Given the description of an element on the screen output the (x, y) to click on. 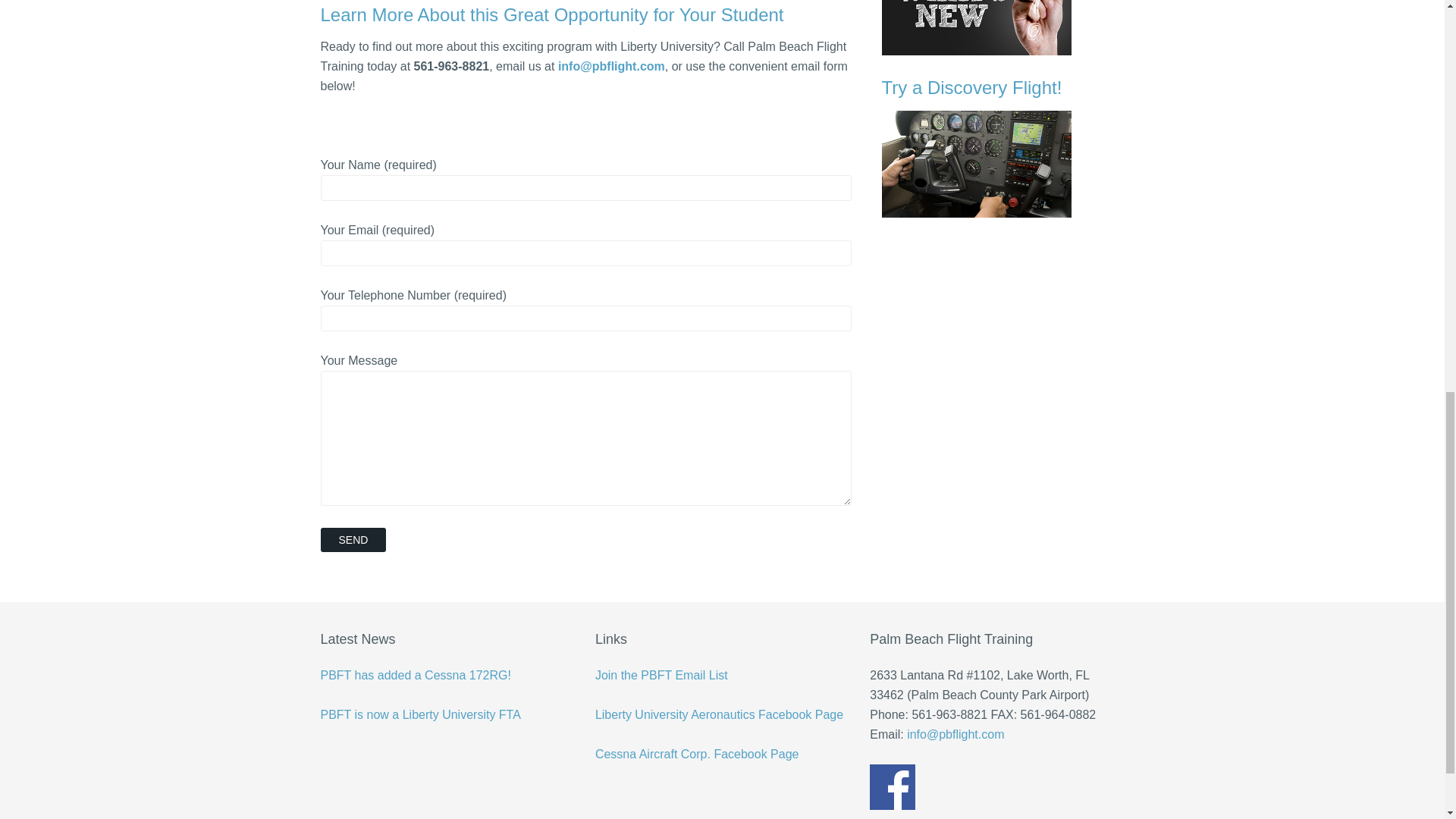
Try a Discovery Flight! (1002, 146)
Liberty University Aeronautics Facebook Page (719, 714)
Send (352, 539)
PBFT is now a Liberty University FTA (419, 714)
PBFT News (1002, 27)
Send (352, 539)
PBFT has added a Cessna 172RG! (415, 675)
Join the PBFT Email List (661, 675)
Cessna Aircraft Corp. Facebook Page (697, 753)
